Given the description of an element on the screen output the (x, y) to click on. 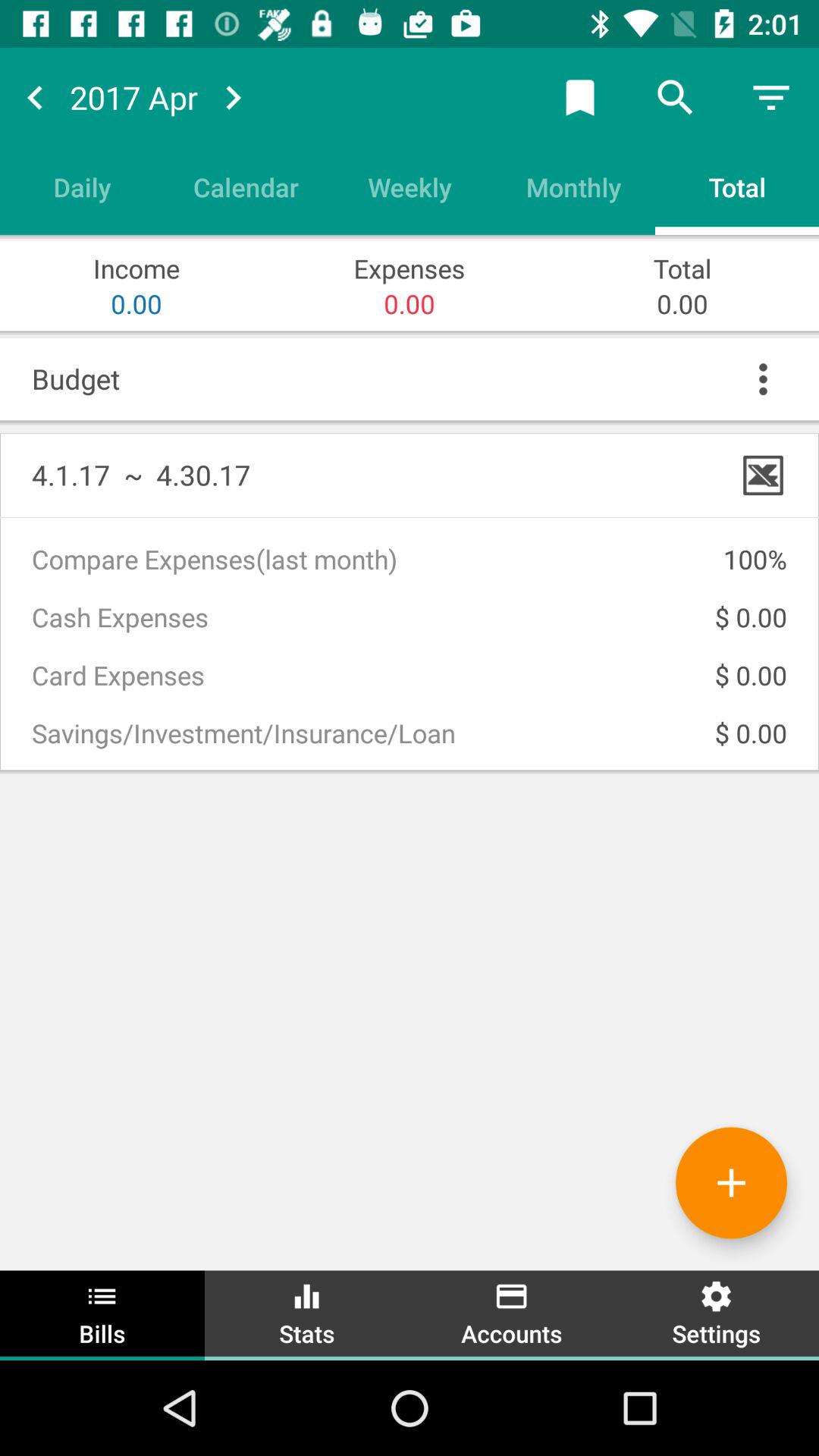
bookmark (579, 97)
